Given the description of an element on the screen output the (x, y) to click on. 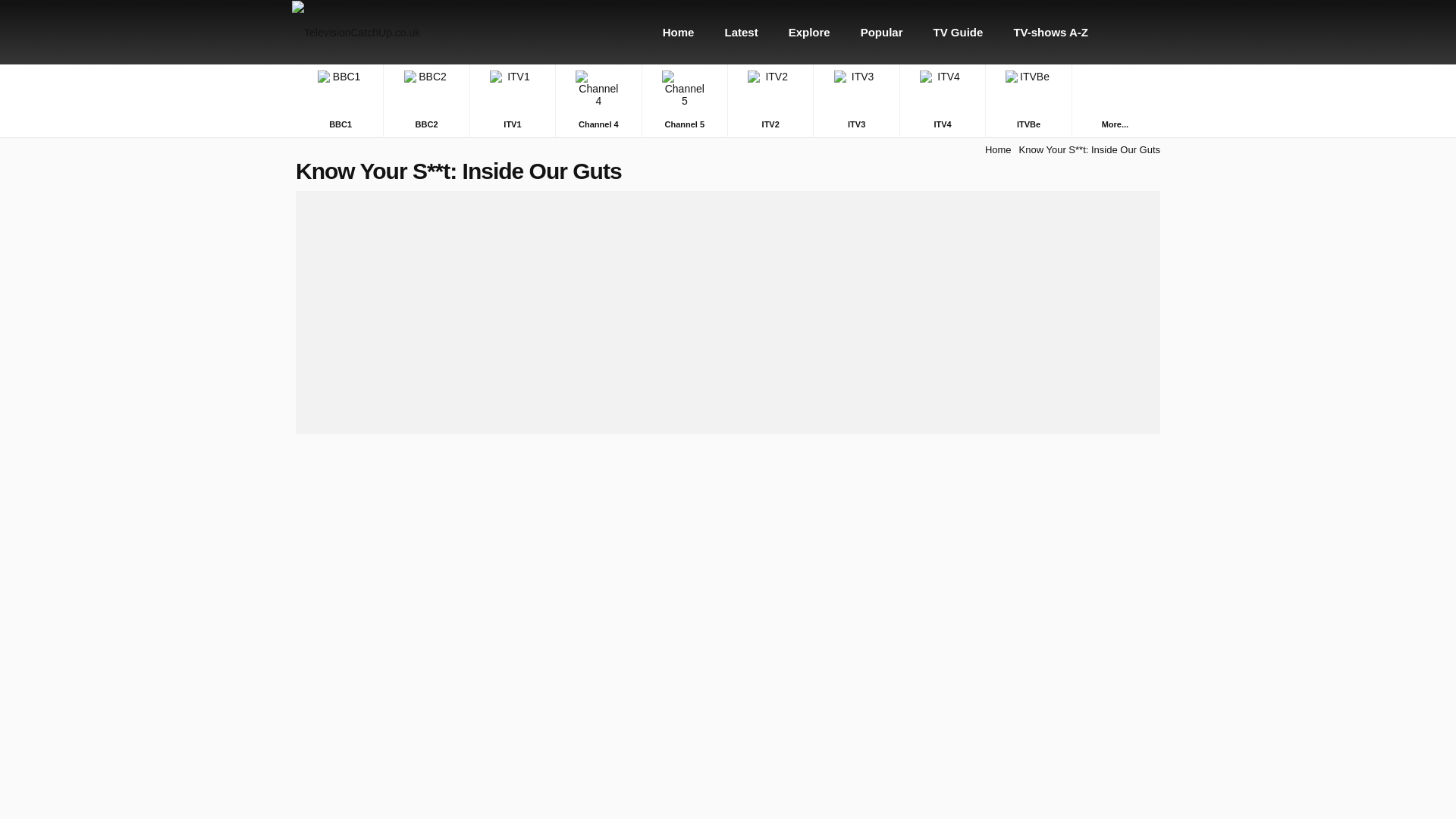
Latest (741, 32)
Home (678, 32)
ITV3 (855, 100)
BBC1 (340, 100)
ITV1 (512, 100)
ITV2 (770, 100)
ITV1 (512, 100)
ITV4 (942, 100)
Channel 4 (598, 100)
ITVBe (1027, 100)
ITVBe (1027, 100)
TV Guide (958, 32)
Explore (809, 32)
Home (998, 149)
More... (1114, 122)
